Given the description of an element on the screen output the (x, y) to click on. 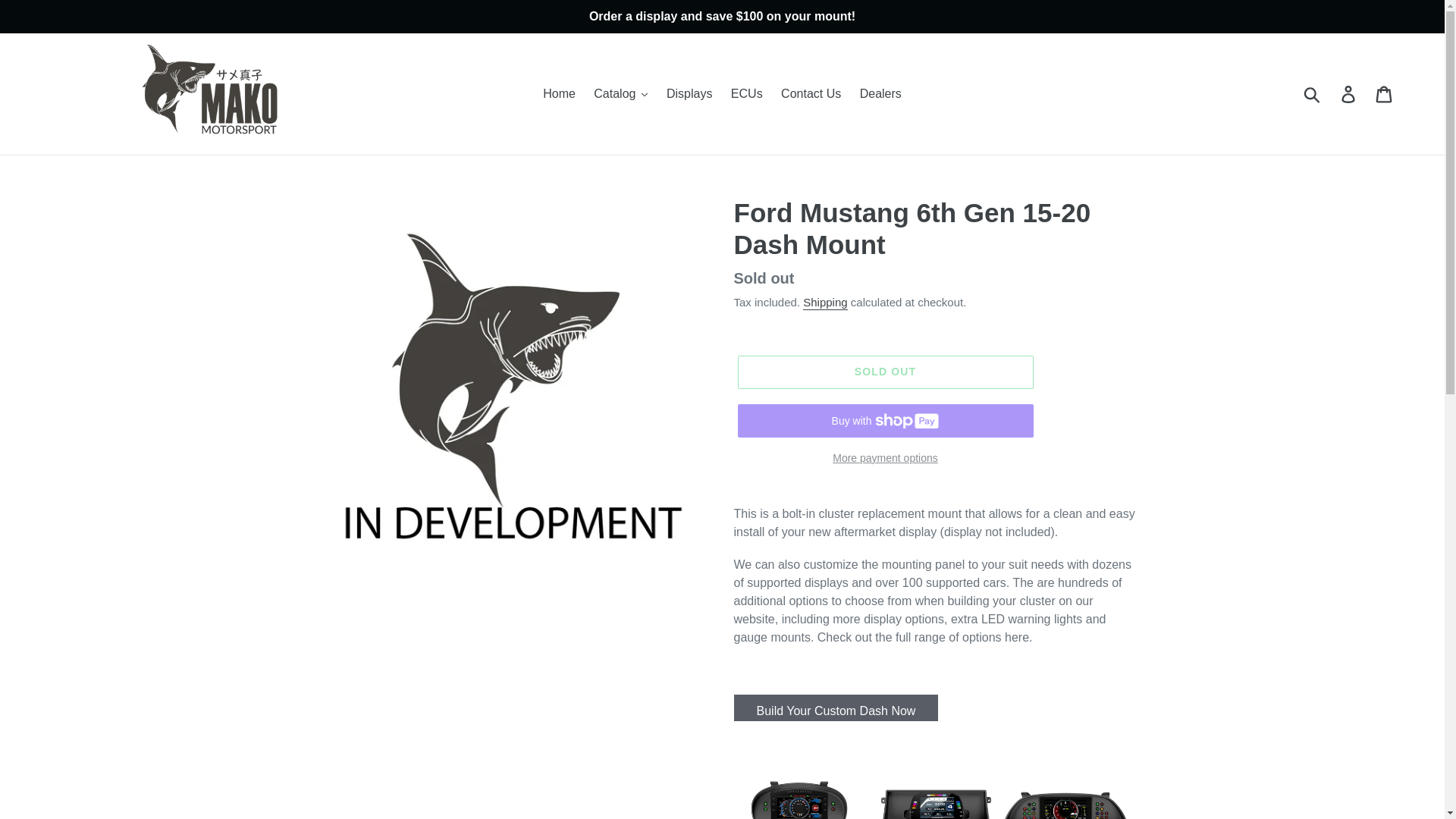
Cart (1385, 93)
ECUs (746, 93)
Dealers (879, 93)
Build Your Custom Dash Now (836, 707)
Log in (1349, 93)
Submit (1313, 93)
Contact Us (810, 93)
Displays (689, 93)
Home (559, 93)
